Given the description of an element on the screen output the (x, y) to click on. 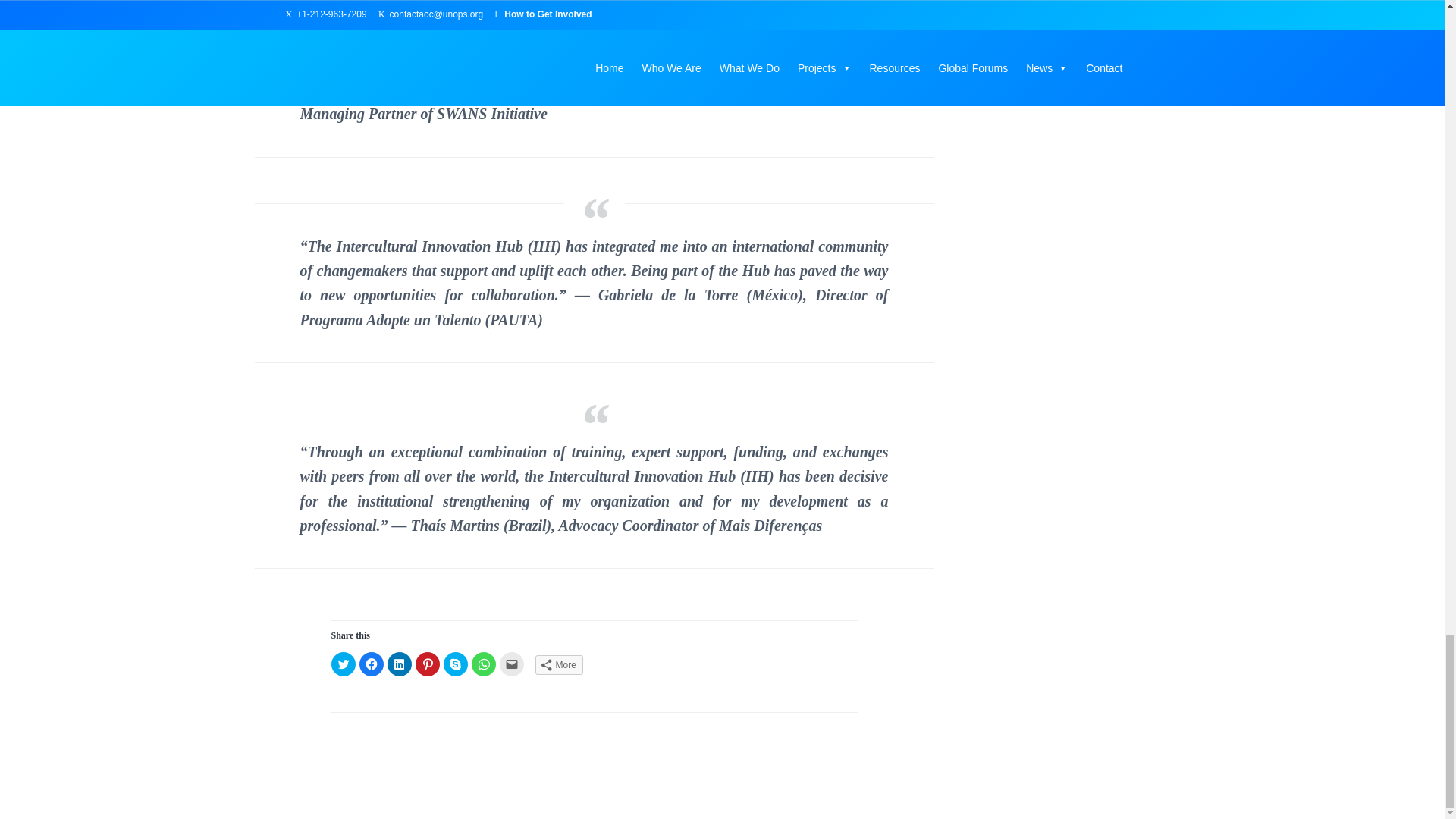
Click to share on Twitter (342, 663)
Click to share on LinkedIn (398, 663)
Click to share on Skype (454, 663)
Click to share on Facebook (371, 663)
Click to share on WhatsApp (483, 663)
Click to email a link to a friend (510, 663)
Click to share on Pinterest (426, 663)
